Given the description of an element on the screen output the (x, y) to click on. 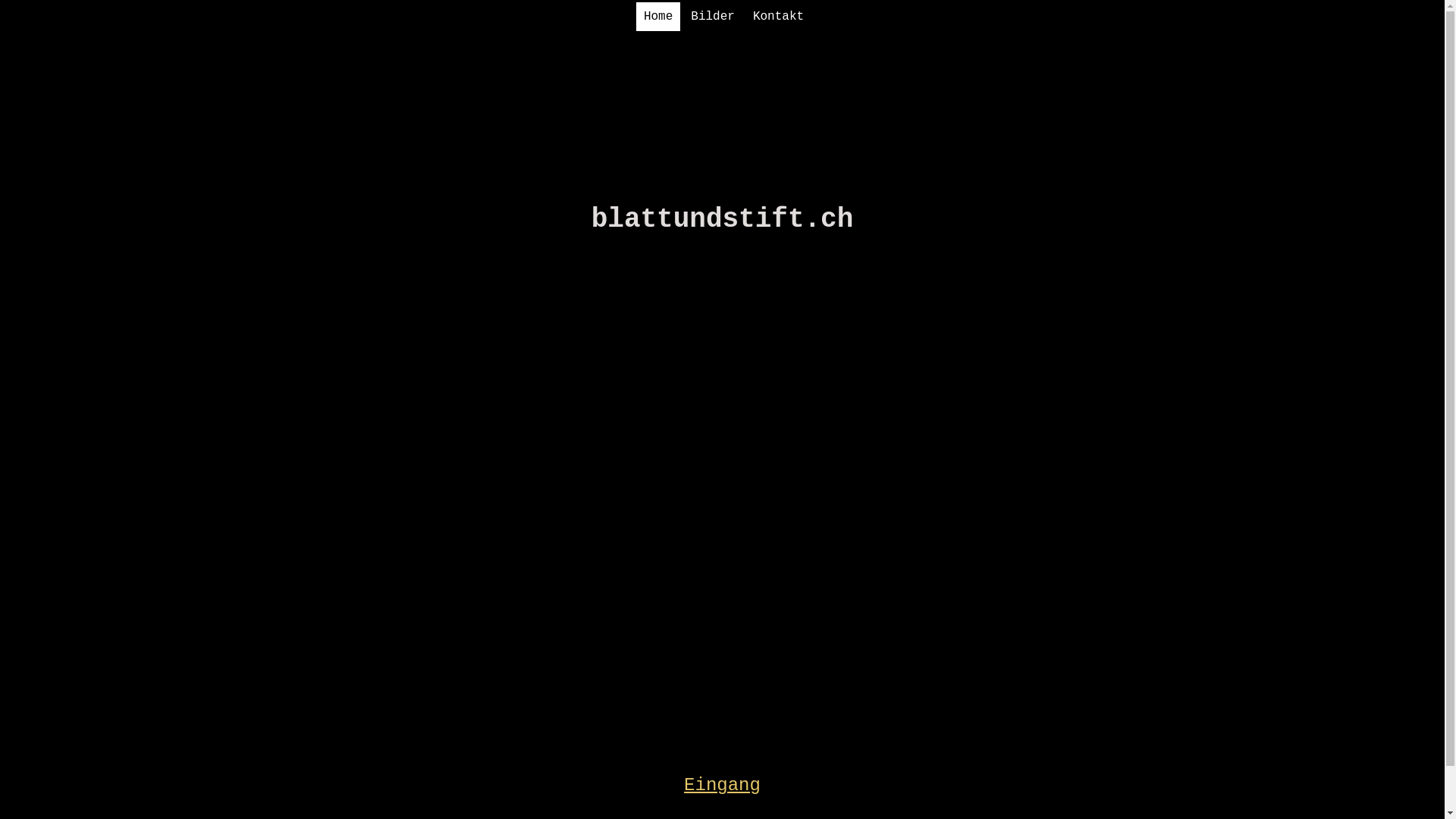
Kontakt Element type: text (778, 16)
Home Element type: text (657, 16)
Bilder Element type: text (712, 16)
Eingang Element type: text (722, 785)
